Given the description of an element on the screen output the (x, y) to click on. 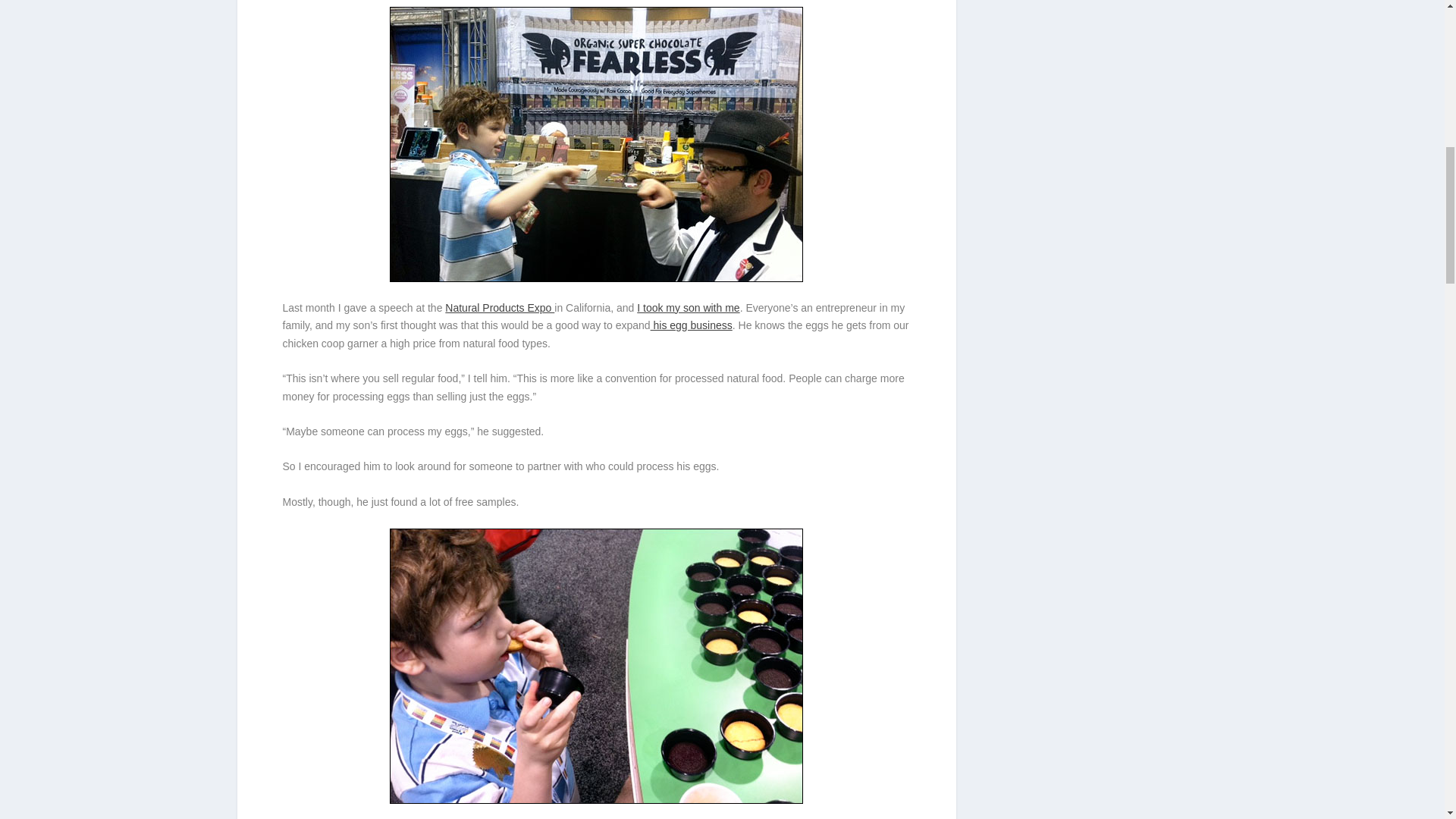
Natural Products Expo  (499, 307)
 his egg business (691, 325)
I took my son with me (688, 307)
